Given the description of an element on the screen output the (x, y) to click on. 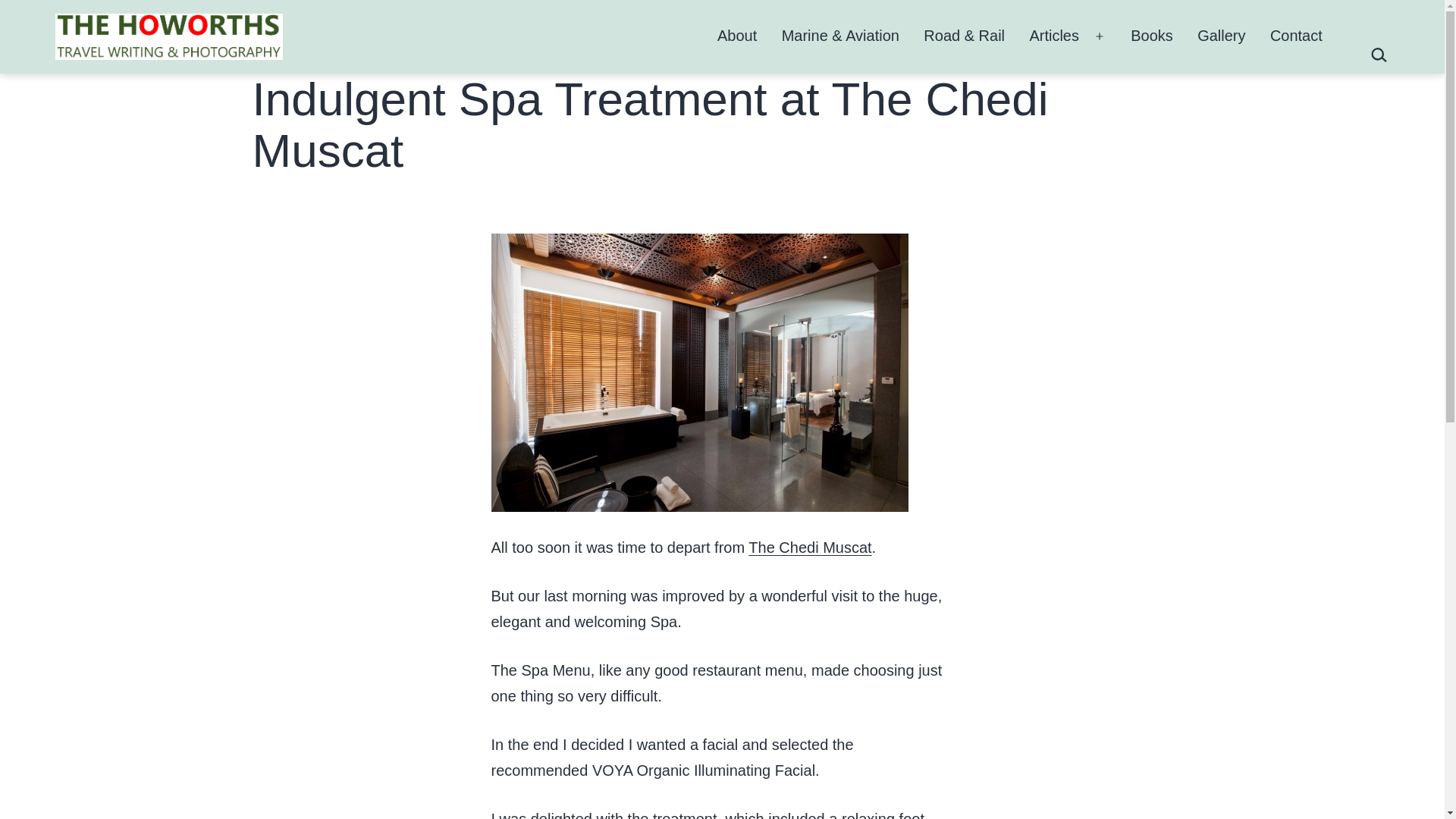
Articles (1054, 36)
Contact (1296, 36)
About (737, 36)
Gallery (1221, 36)
The Chedi Muscat (809, 547)
Books (1151, 36)
